Given the description of an element on the screen output the (x, y) to click on. 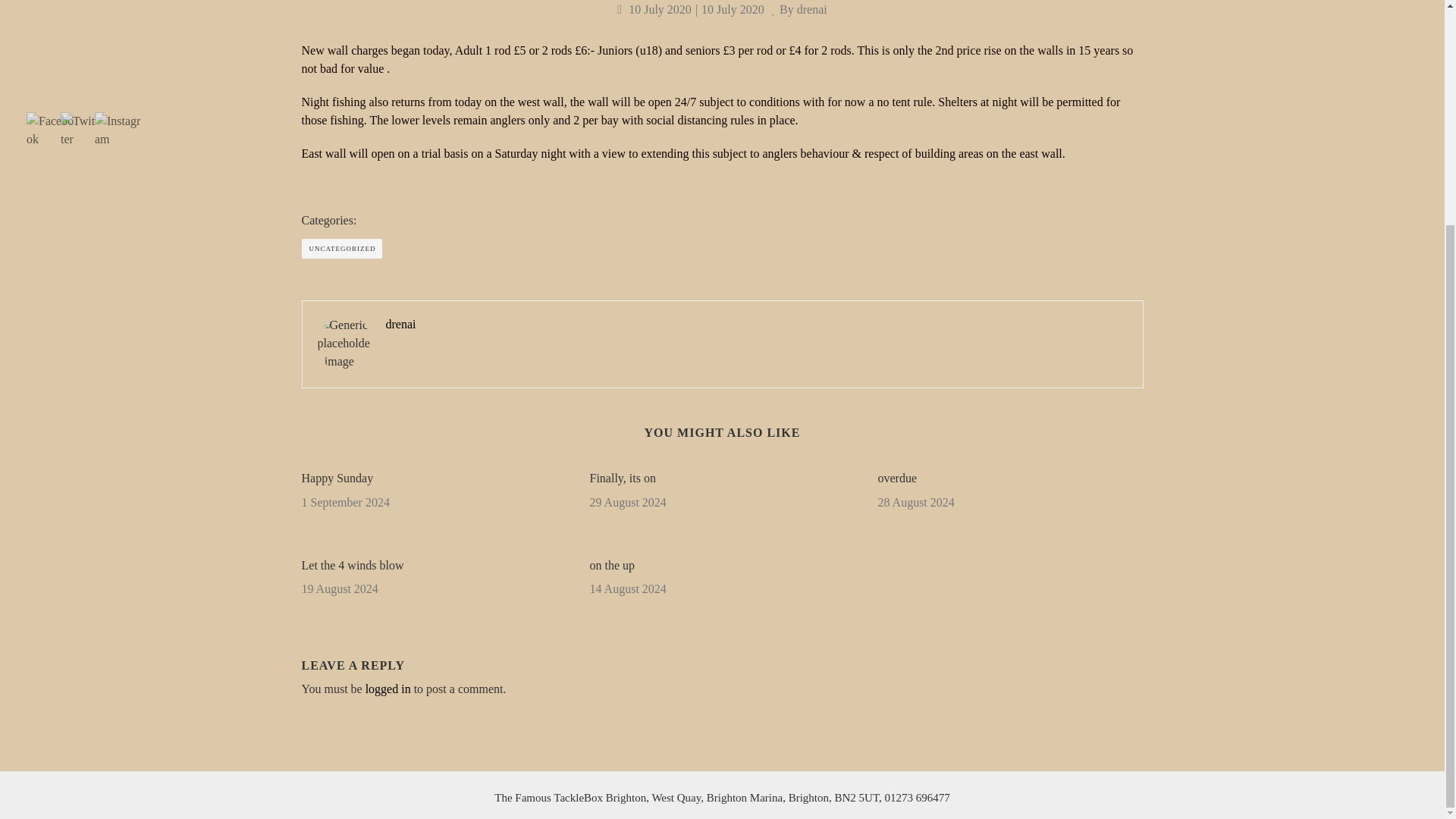
overdue (1009, 478)
Finally, its on (721, 478)
UNCATEGORIZED (341, 248)
Let the 4 winds blow (434, 565)
drenai (811, 9)
Happy Sunday (434, 478)
drenai (399, 323)
on the up (721, 565)
10 July 202010 July 2020 (689, 9)
